Given the description of an element on the screen output the (x, y) to click on. 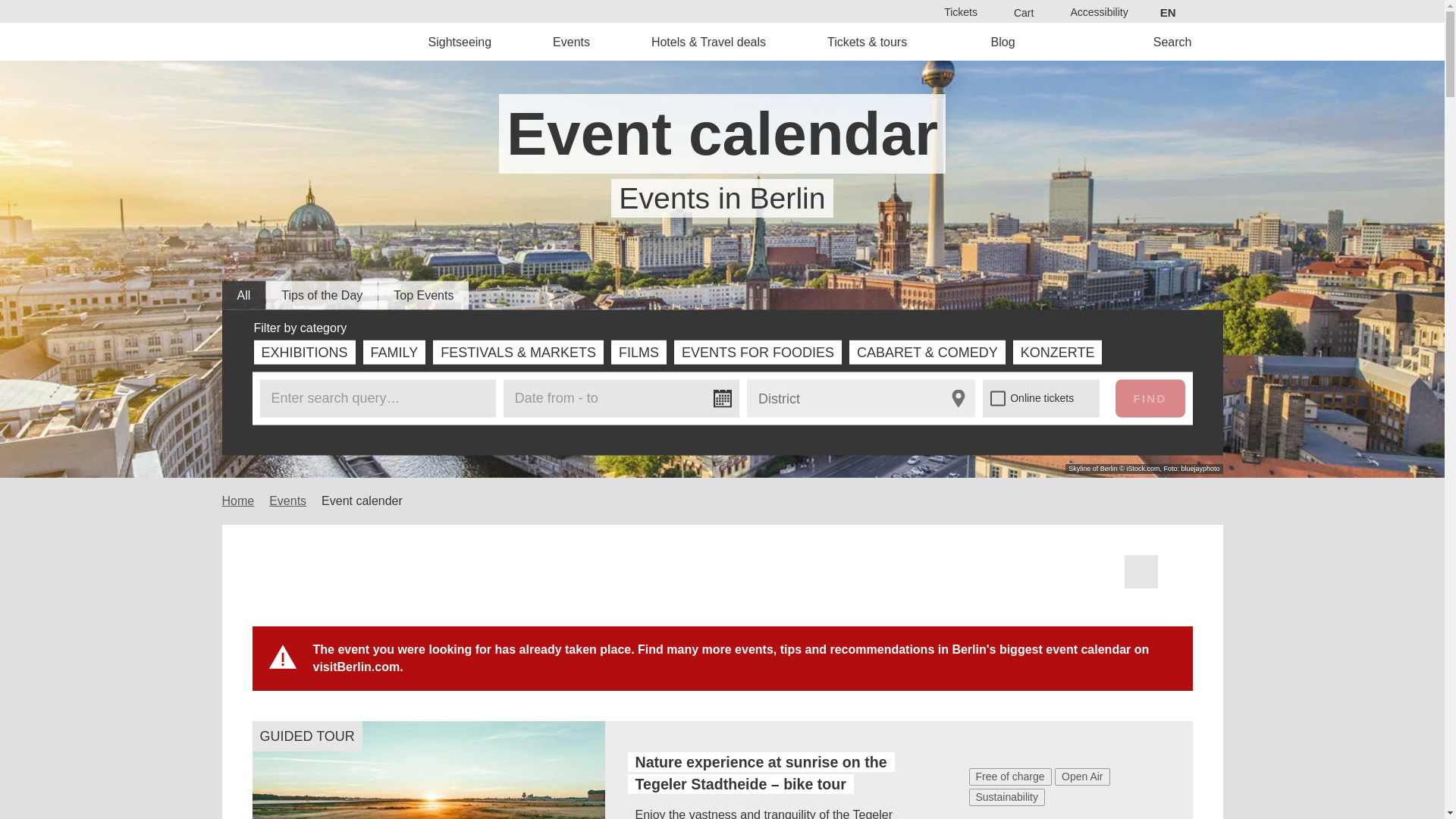
Sightseeing (460, 41)
Home (327, 41)
Find (1150, 397)
Events (571, 41)
Find (768, 432)
